Given the description of an element on the screen output the (x, y) to click on. 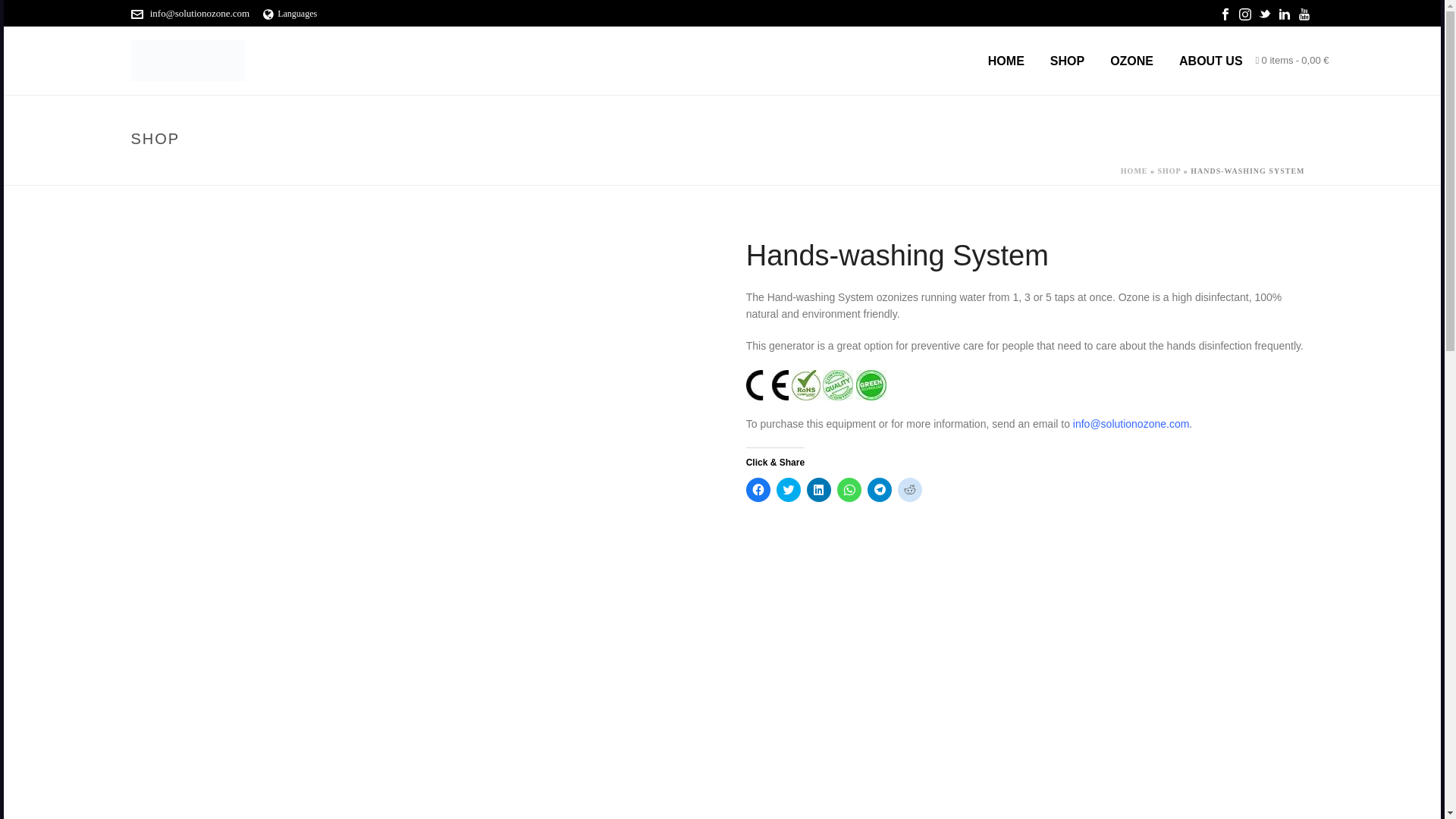
ABOUT US (1210, 61)
Click to share on Twitter (788, 489)
Click to share on LinkedIn (818, 489)
SHOP (1066, 61)
Start shopping (1292, 60)
HOME (1005, 61)
HOME (1005, 61)
OZONE (1131, 61)
SHOP (1066, 61)
OZONE (1131, 61)
